Given the description of an element on the screen output the (x, y) to click on. 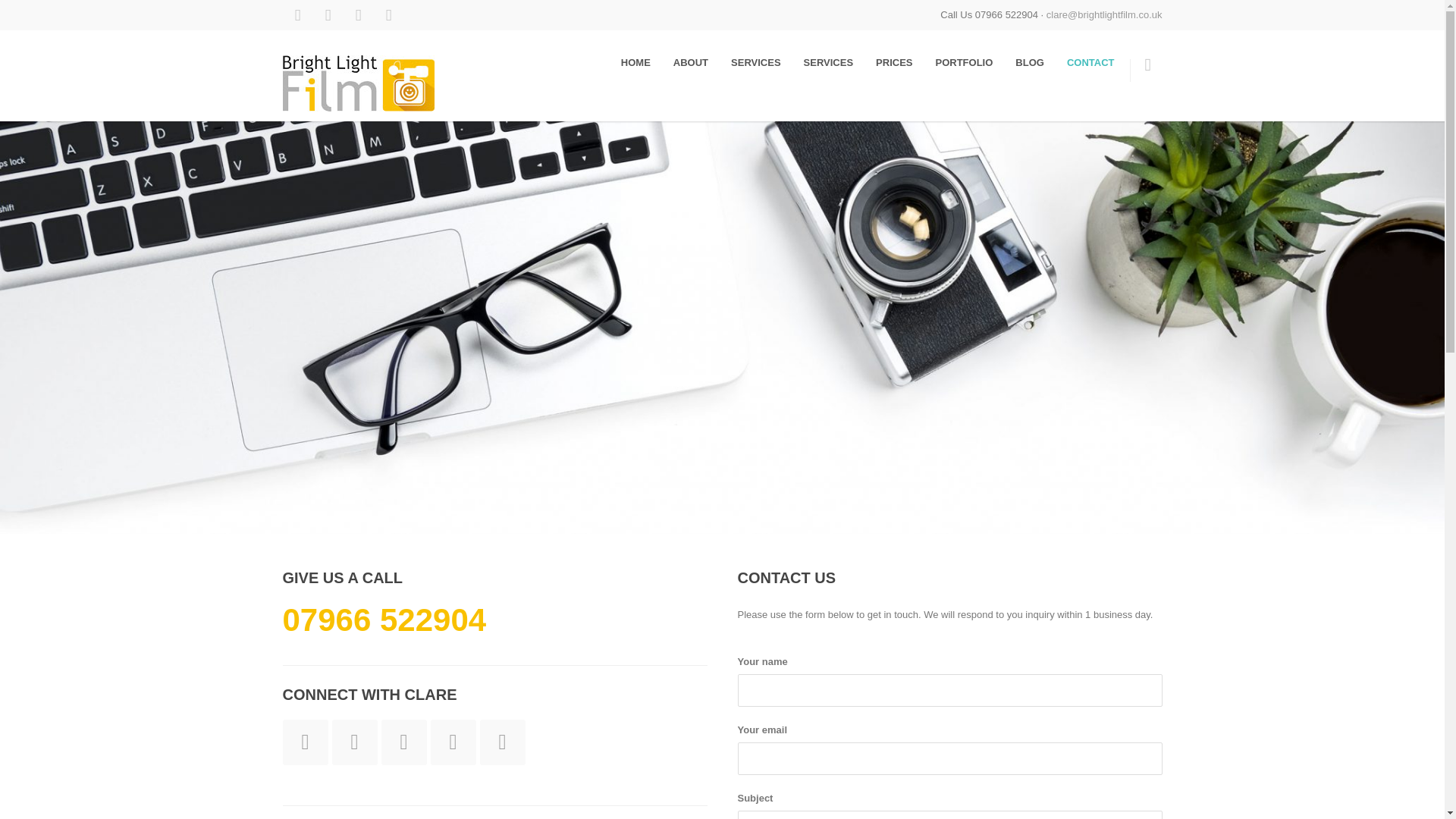
PORTFOLIO (963, 62)
SERVICES (828, 62)
ABOUT (690, 62)
Twitter (357, 15)
HOME (636, 62)
YouTube (387, 15)
Facebook (297, 15)
SERVICES (755, 62)
BLOG (1029, 62)
PRICES (893, 62)
CONTACT (1090, 62)
LinkedIn (327, 15)
